Given the description of an element on the screen output the (x, y) to click on. 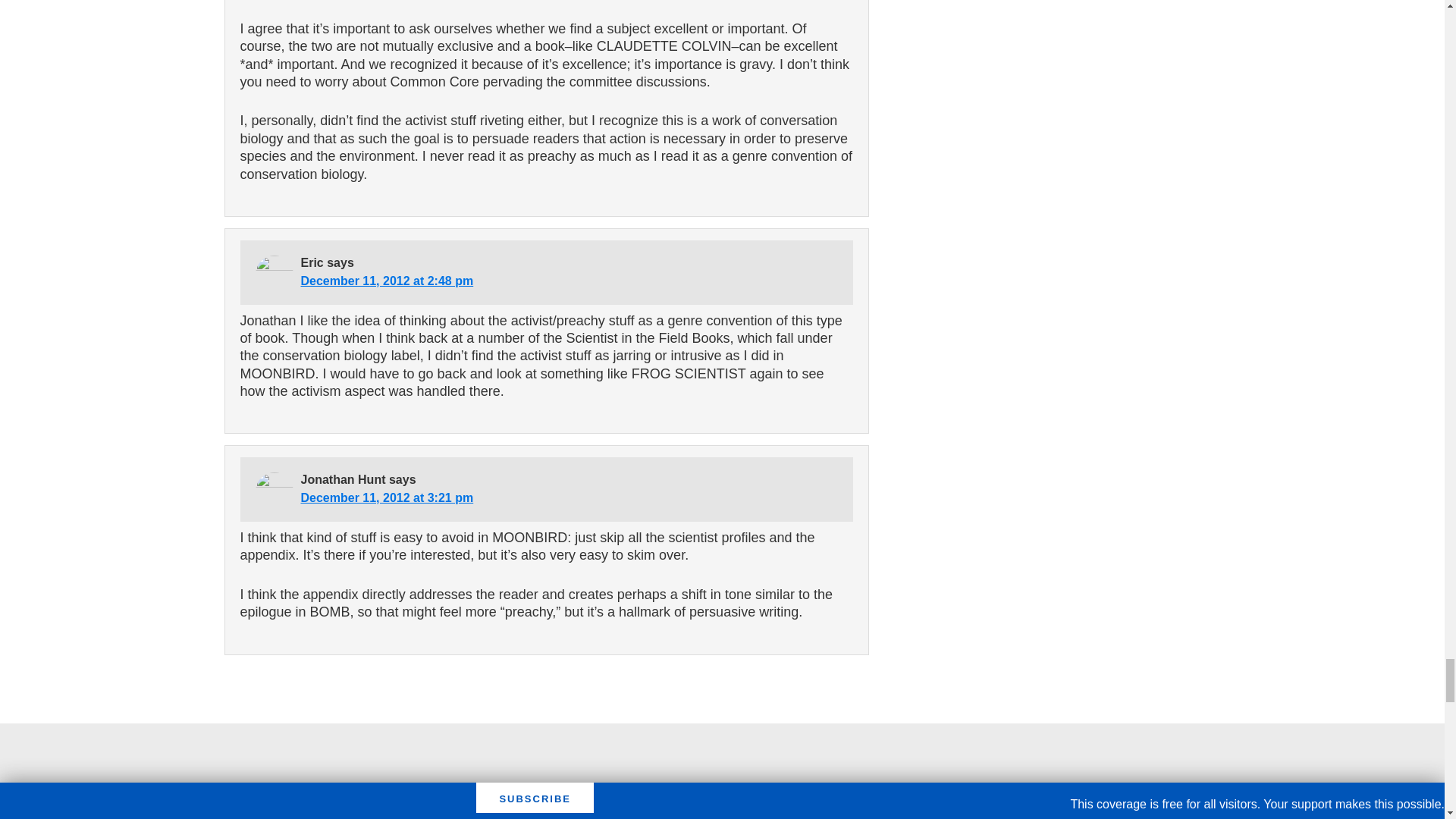
3rd party ad content (721, 776)
